Given the description of an element on the screen output the (x, y) to click on. 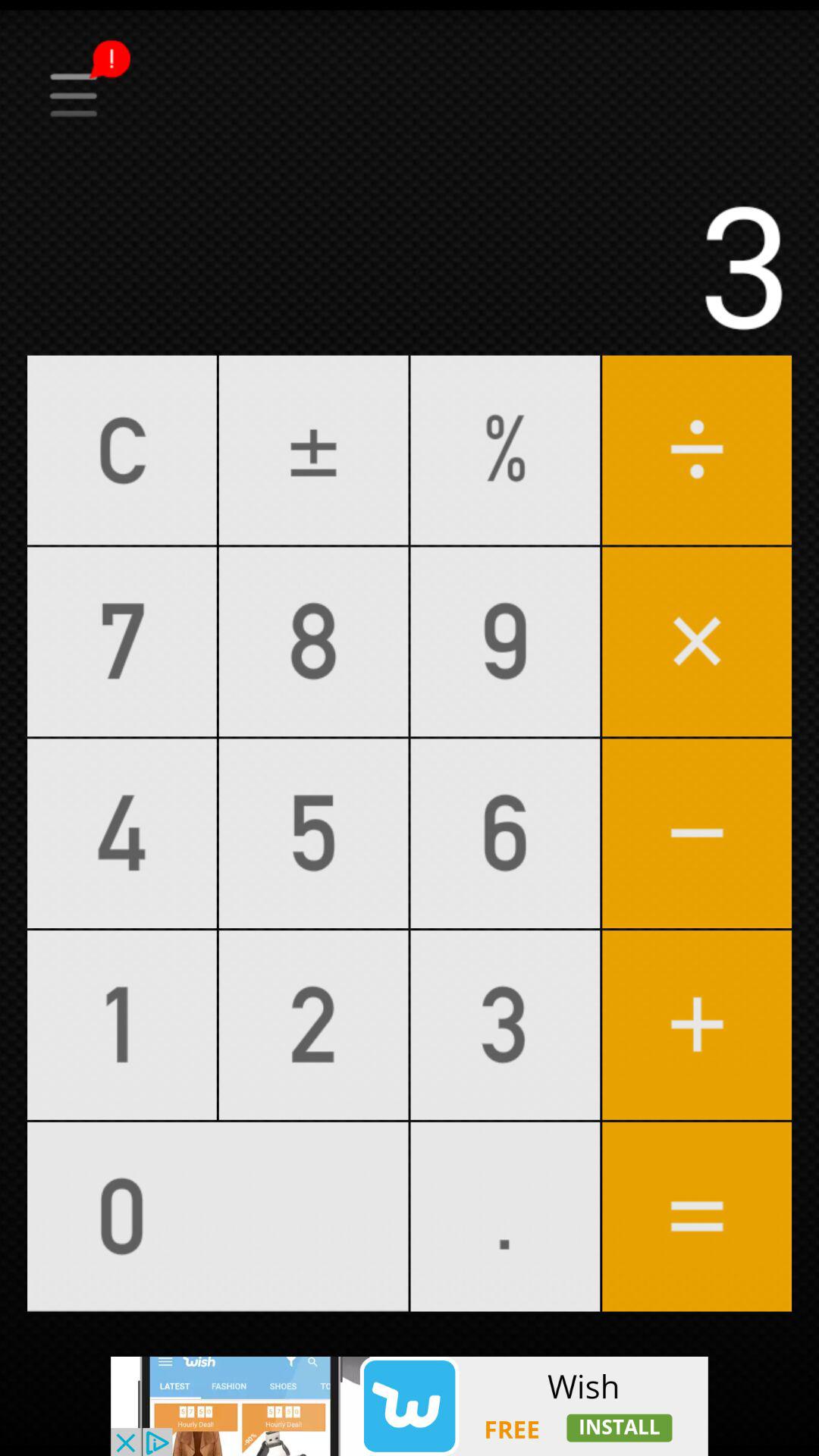
this page add page and install (409, 1406)
